Given the description of an element on the screen output the (x, y) to click on. 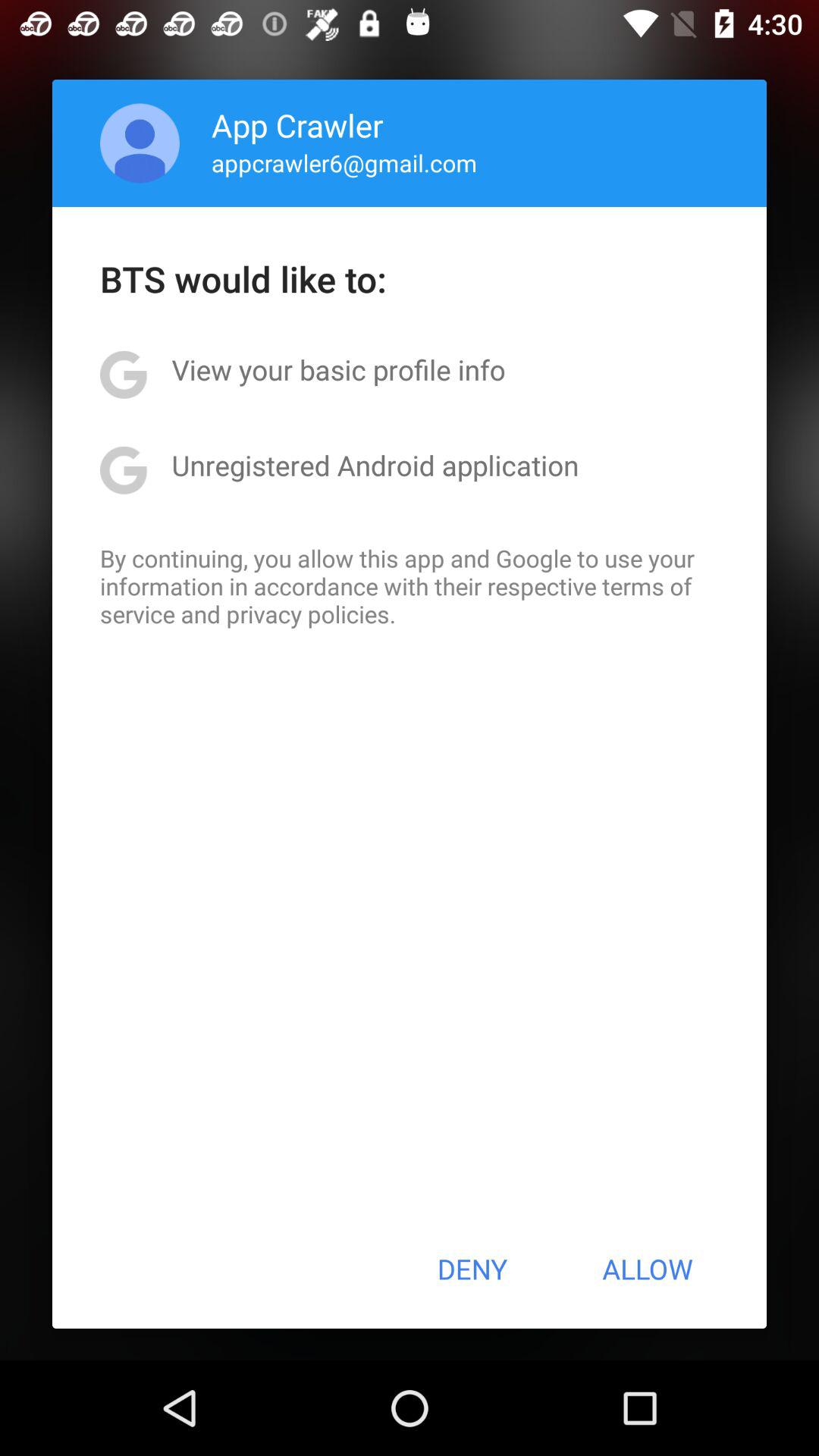
select the deny at the bottom (471, 1268)
